Given the description of an element on the screen output the (x, y) to click on. 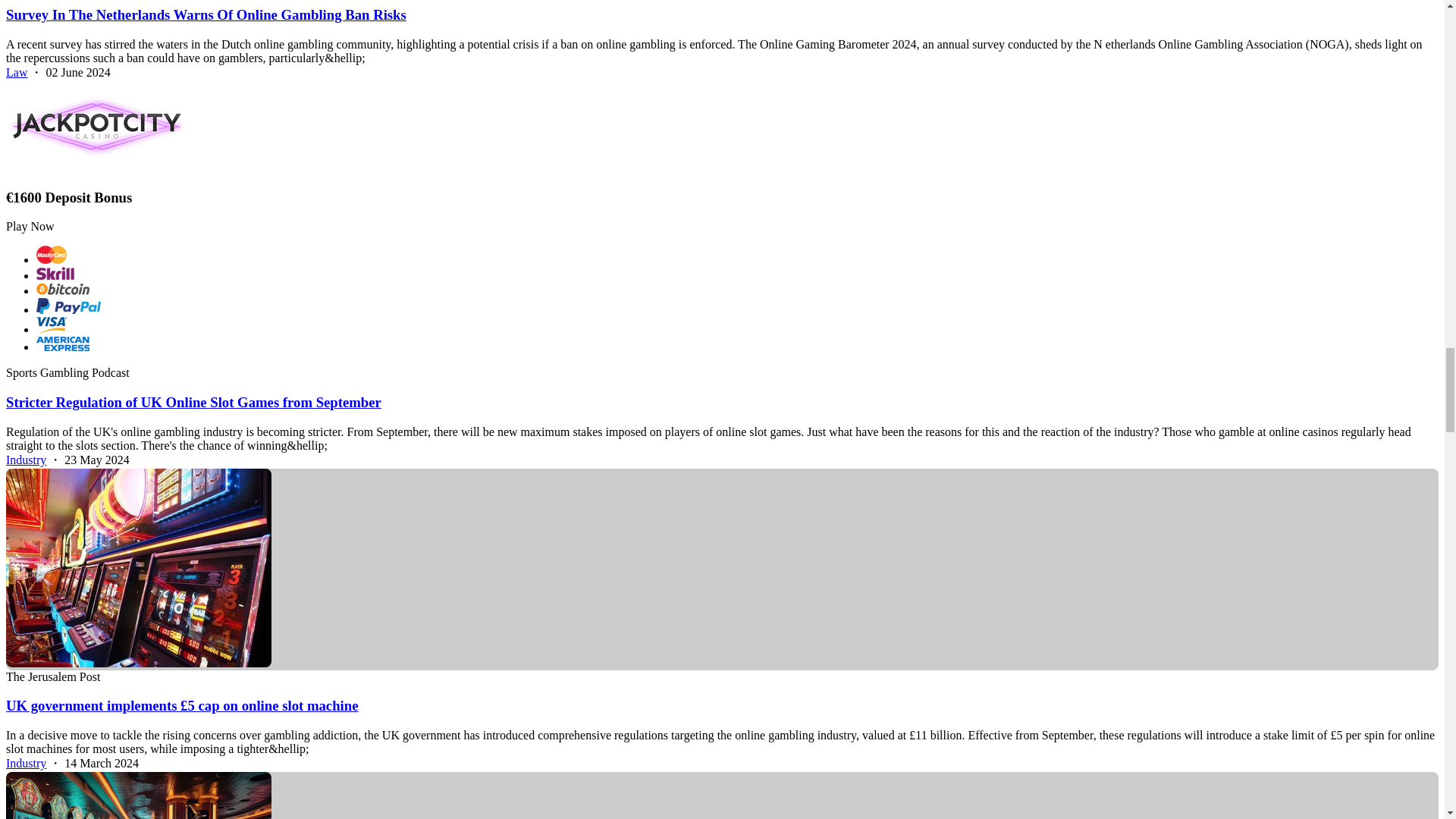
JackpotCity (96, 126)
